Given the description of an element on the screen output the (x, y) to click on. 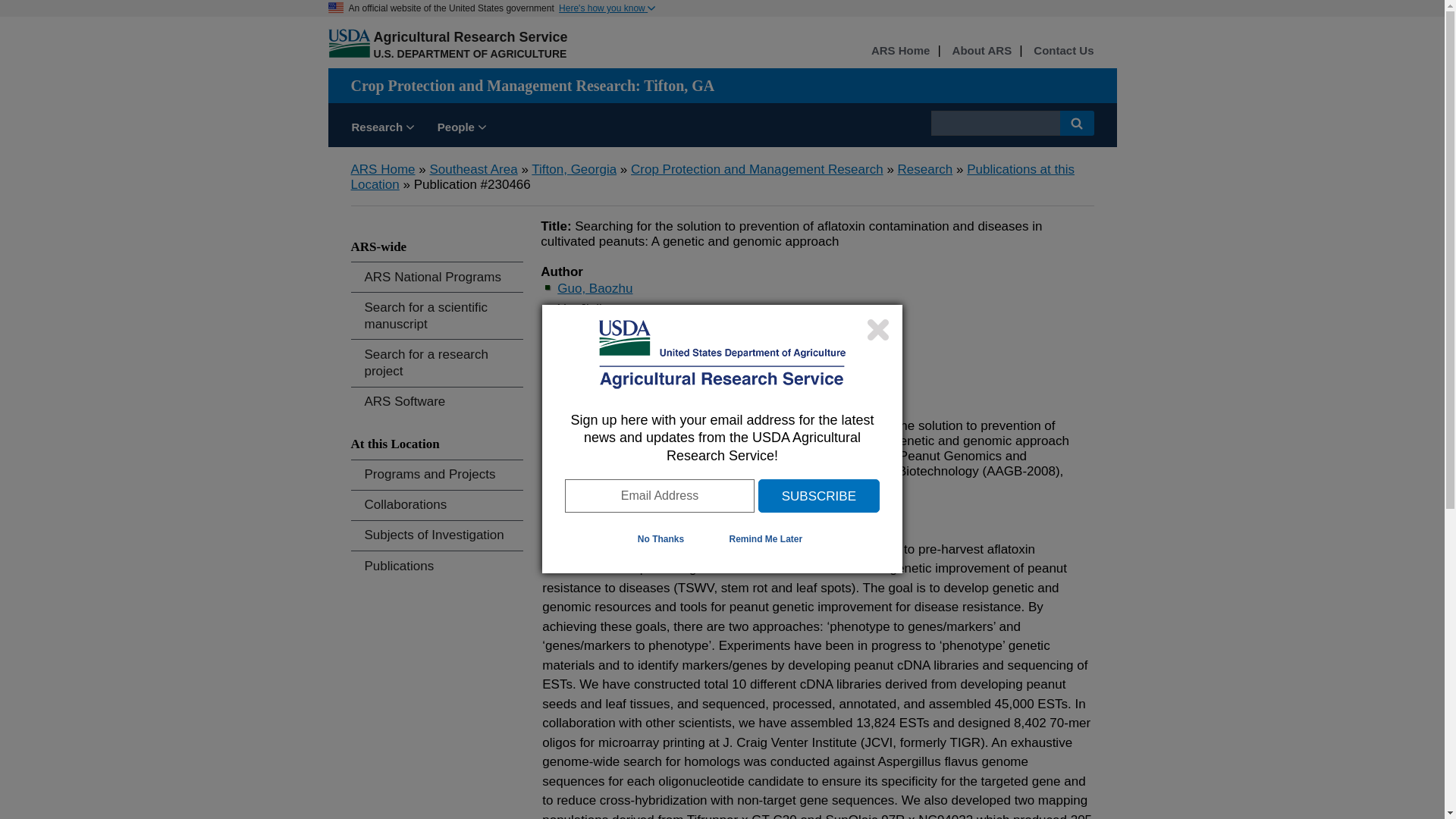
Research (382, 128)
U.S. DEPARTMENT OF AGRICULTURE (469, 53)
Southeast Area (472, 169)
People (461, 128)
Agricultural Research Service Home (469, 37)
ARS National Programs (436, 276)
Contact Us (1063, 50)
ARS Software (436, 401)
Subscribe (818, 495)
Contact Us (1063, 50)
Subjects of Investigation (436, 535)
Close subscription dialog (877, 328)
Programs and Projects (436, 474)
Search for a scientific manuscript (436, 315)
Agricultural Research Service (469, 37)
